Given the description of an element on the screen output the (x, y) to click on. 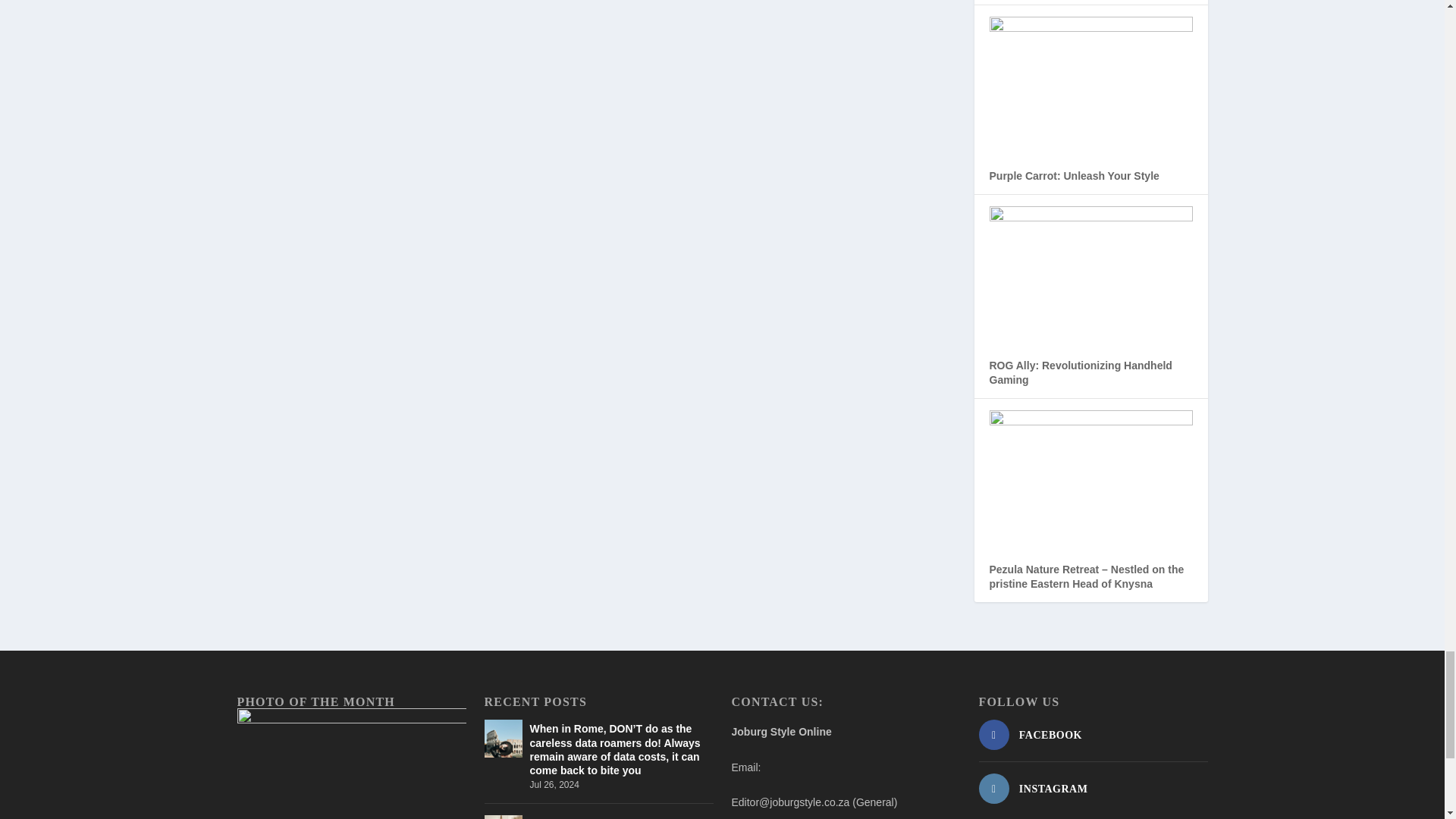
Photo of the Week (350, 763)
